Given the description of an element on the screen output the (x, y) to click on. 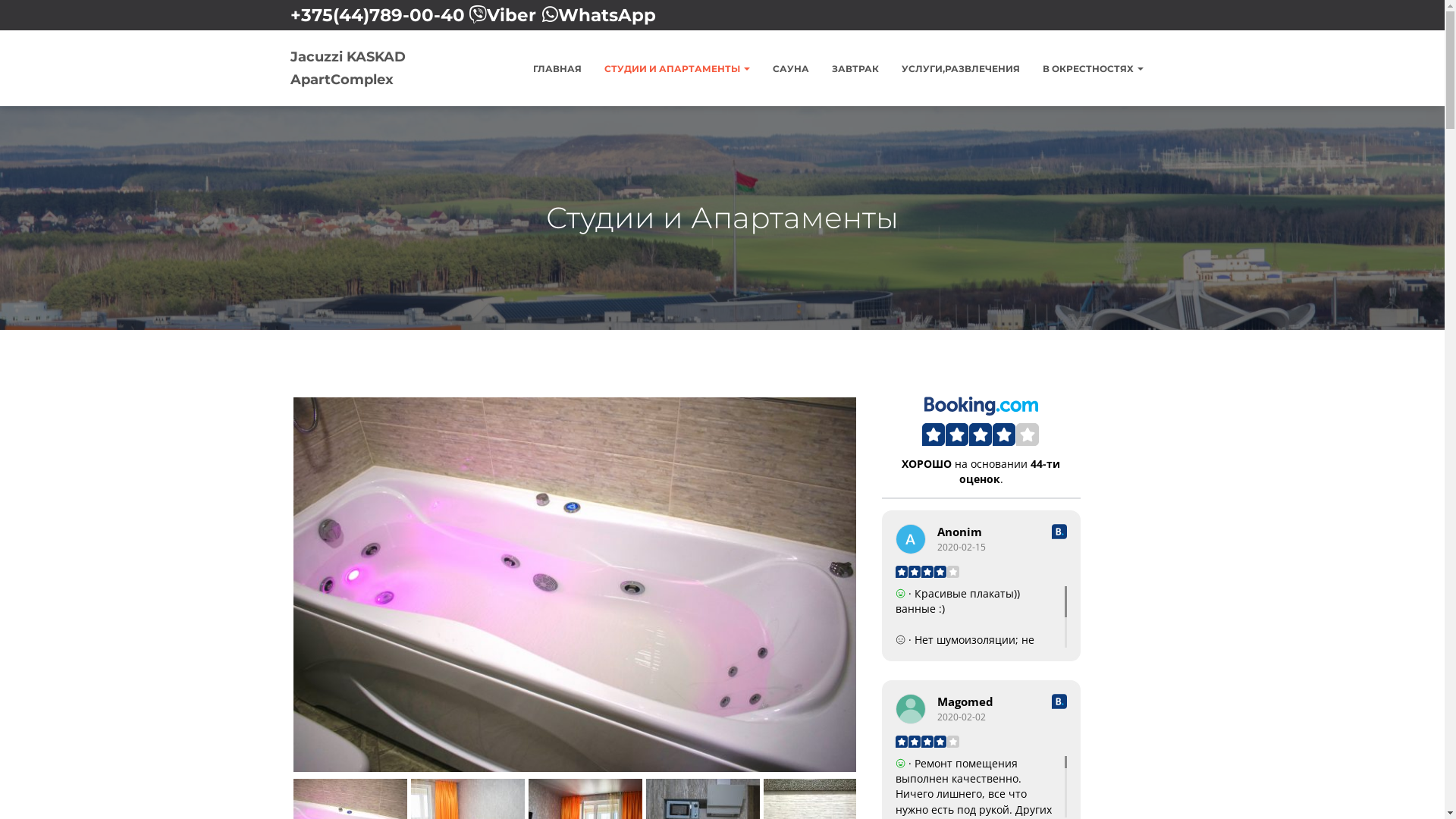
WhatsApp Element type: text (606, 14)
Jacuzzi KASKAD ApartComplex Element type: text (379, 67)
Viber Element type: text (511, 14)
